Given the description of an element on the screen output the (x, y) to click on. 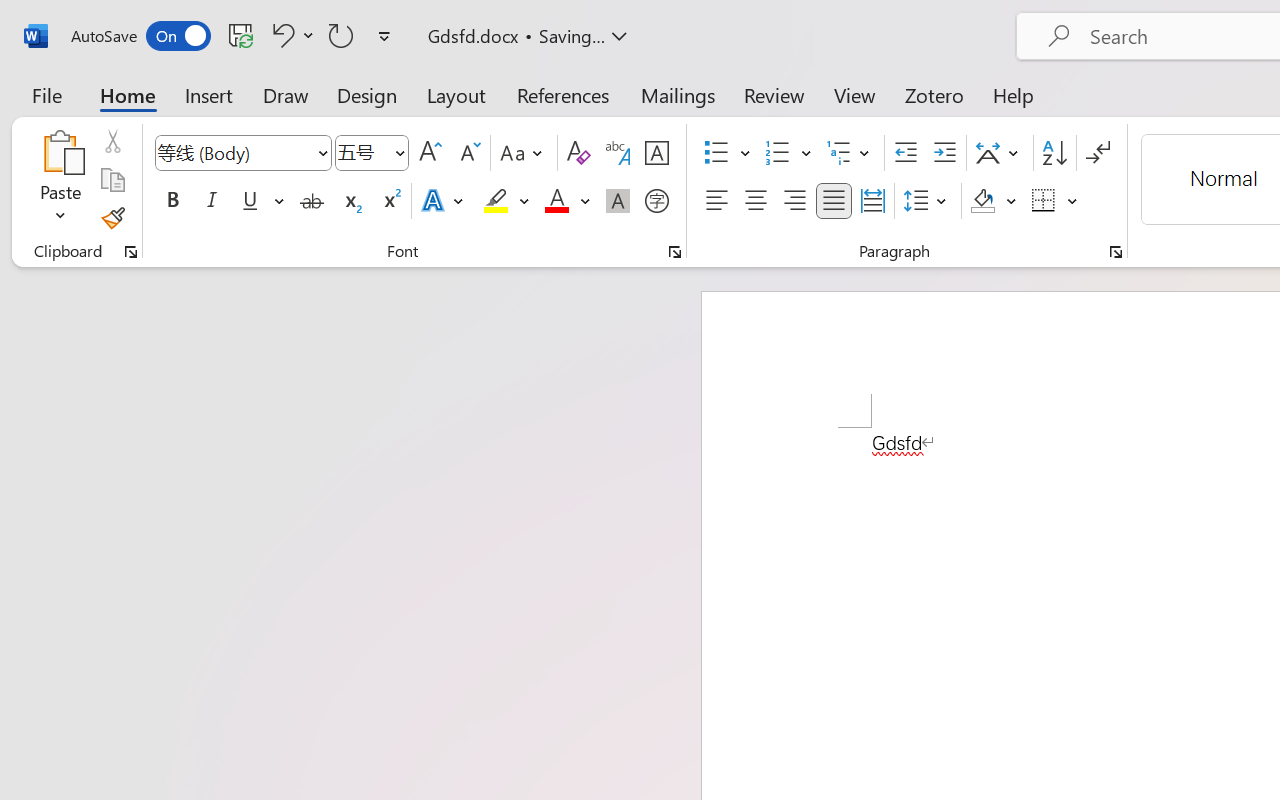
Enclose Characters... (656, 201)
Repeat Style (341, 35)
Superscript (390, 201)
Show/Hide Editing Marks (1098, 153)
Text Effects and Typography (444, 201)
Align Left (716, 201)
